Given the description of an element on the screen output the (x, y) to click on. 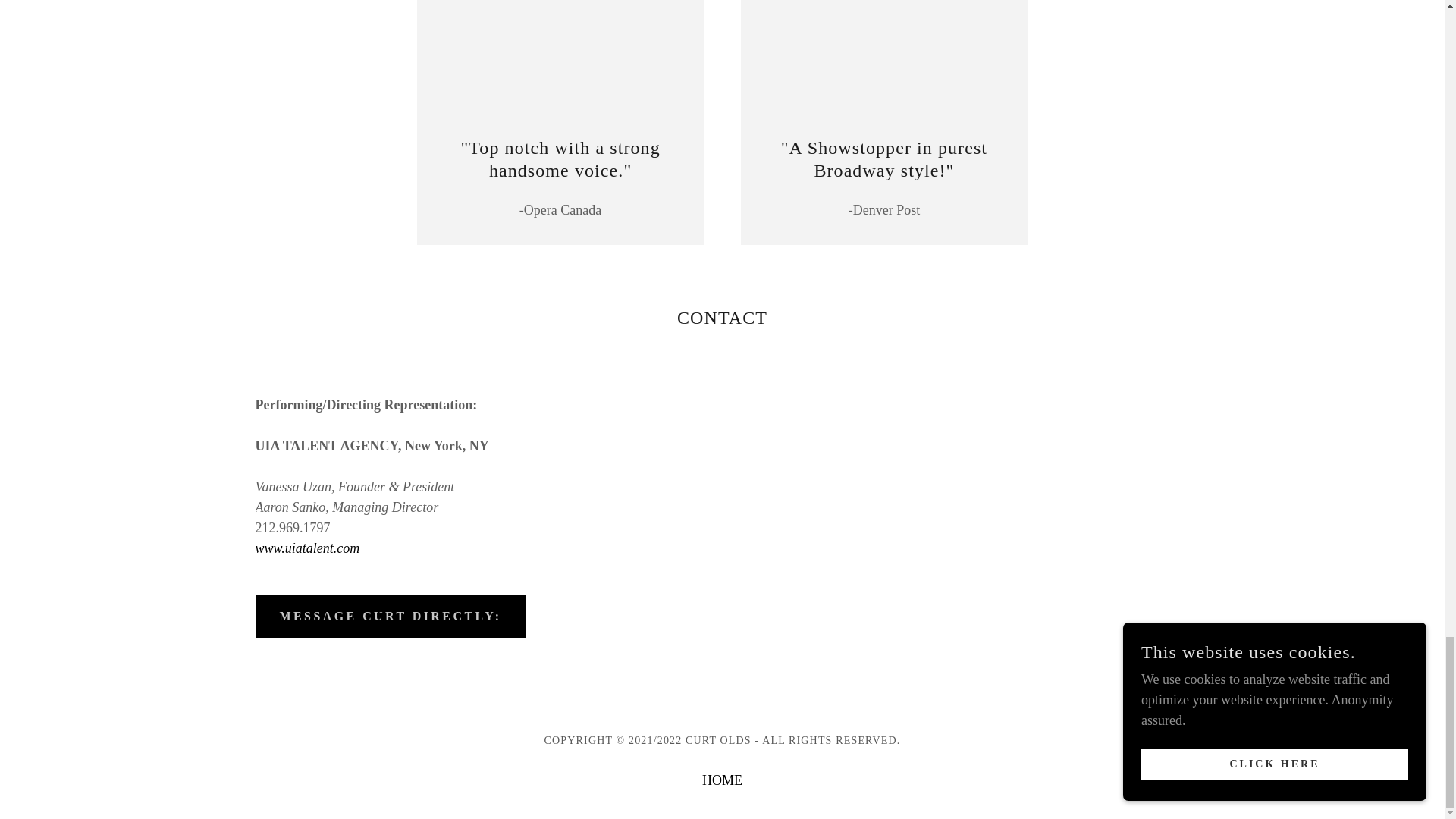
www.uiatalent.com (306, 548)
MESSAGE CURT DIRECTLY: (389, 616)
HOME (721, 780)
